Given the description of an element on the screen output the (x, y) to click on. 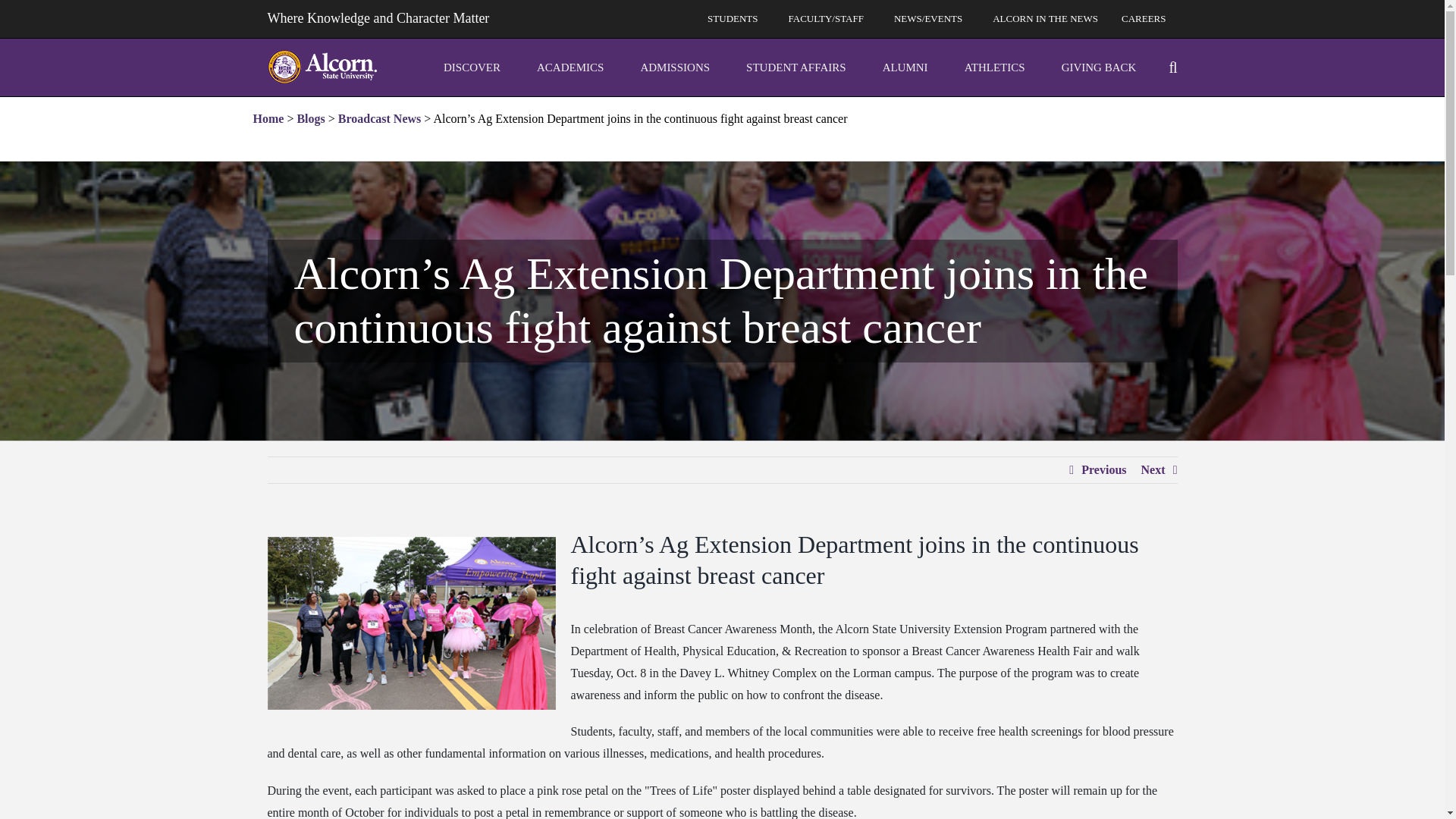
STUDENTS (735, 18)
Go to the Broadcast News category archives. (378, 118)
Go to Home. (268, 118)
Go to Blogs. (310, 118)
oip (478, 67)
